Given the description of an element on the screen output the (x, y) to click on. 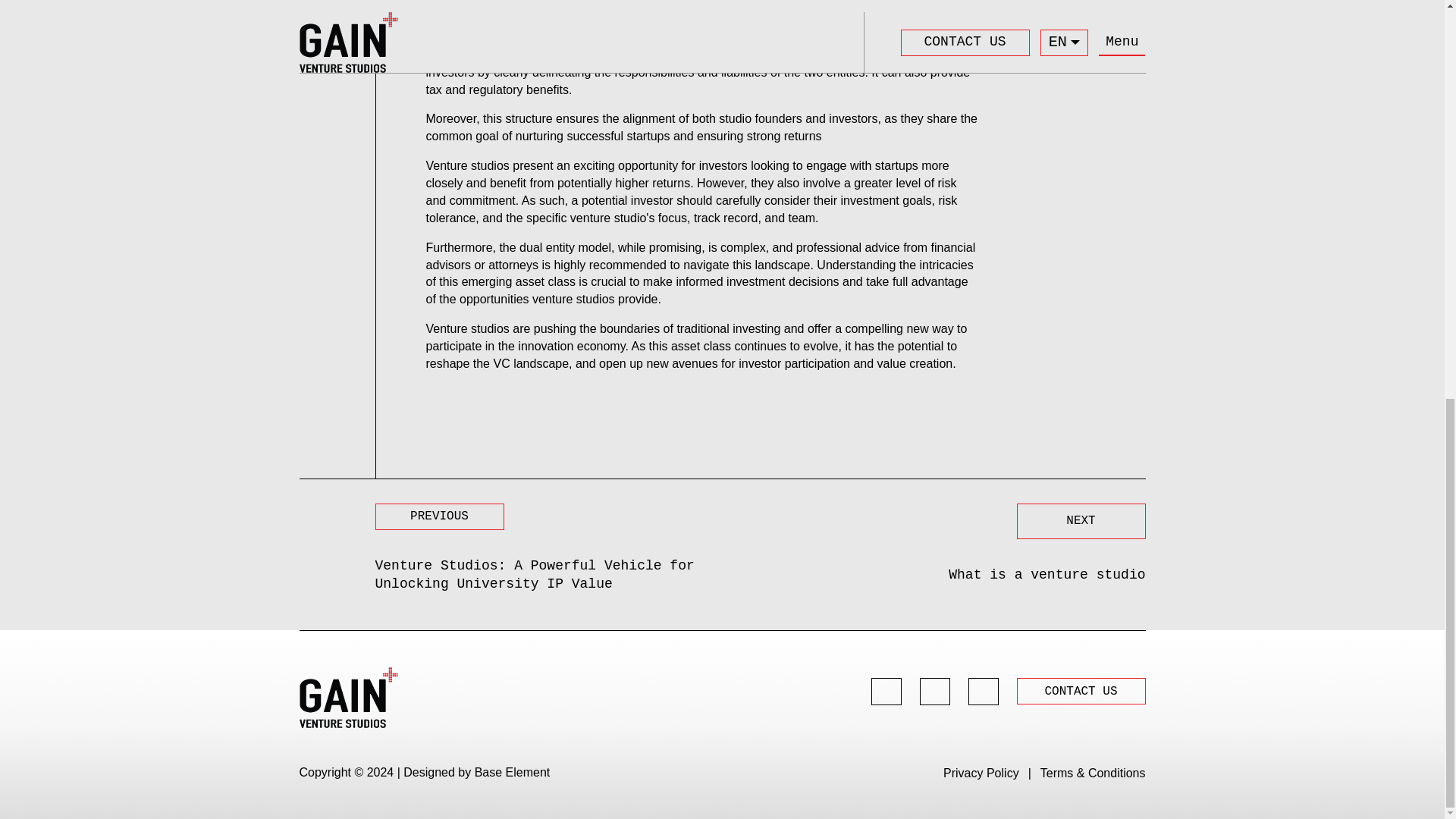
CONTACT US (1080, 691)
Privacy Policy (981, 772)
NEXT (1079, 520)
PREVIOUS (439, 516)
